Given the description of an element on the screen output the (x, y) to click on. 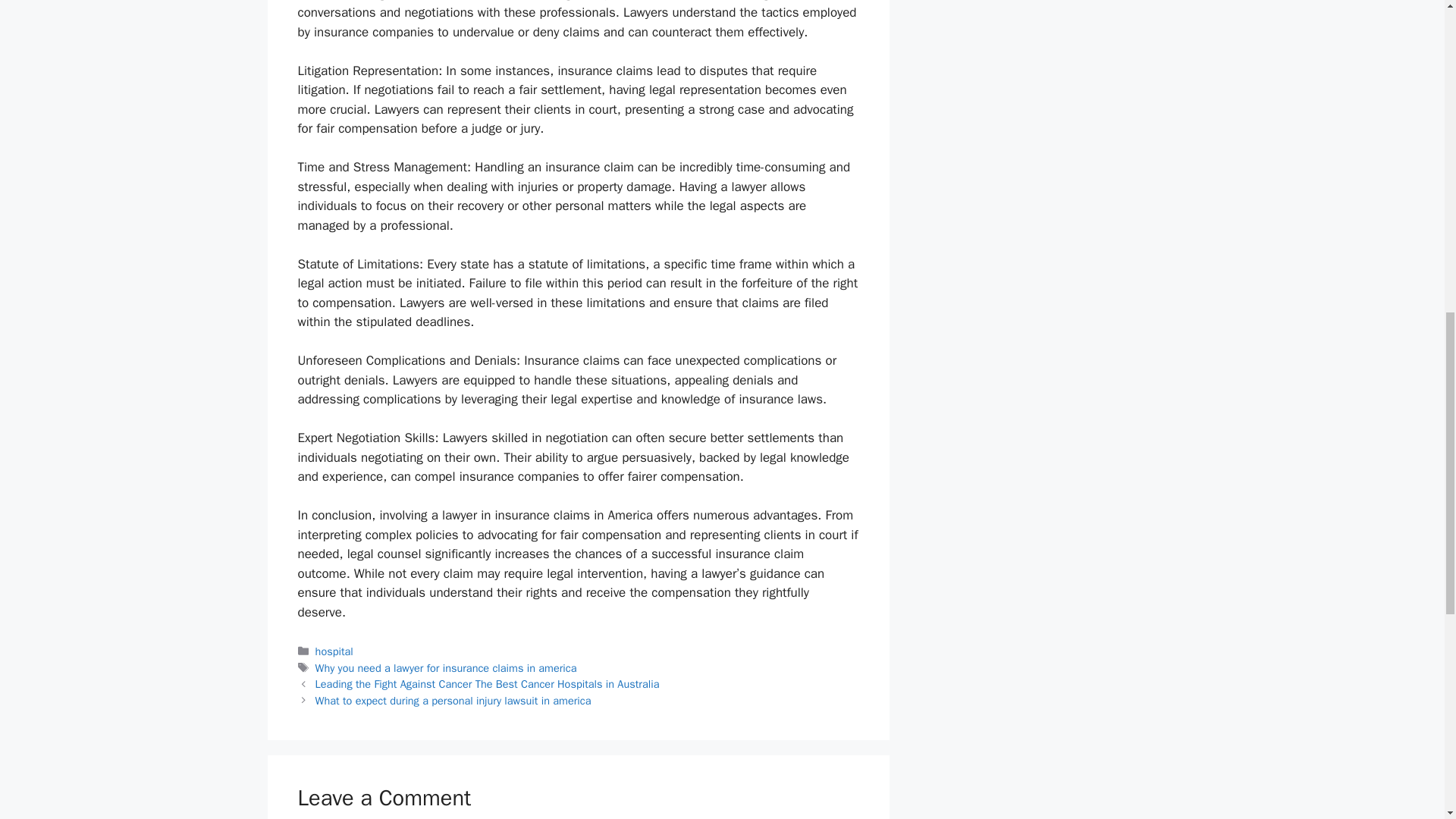
hospital (334, 651)
Why you need a lawyer for insurance claims in america (445, 667)
What to expect during a personal injury lawsuit in america (453, 700)
